Given the description of an element on the screen output the (x, y) to click on. 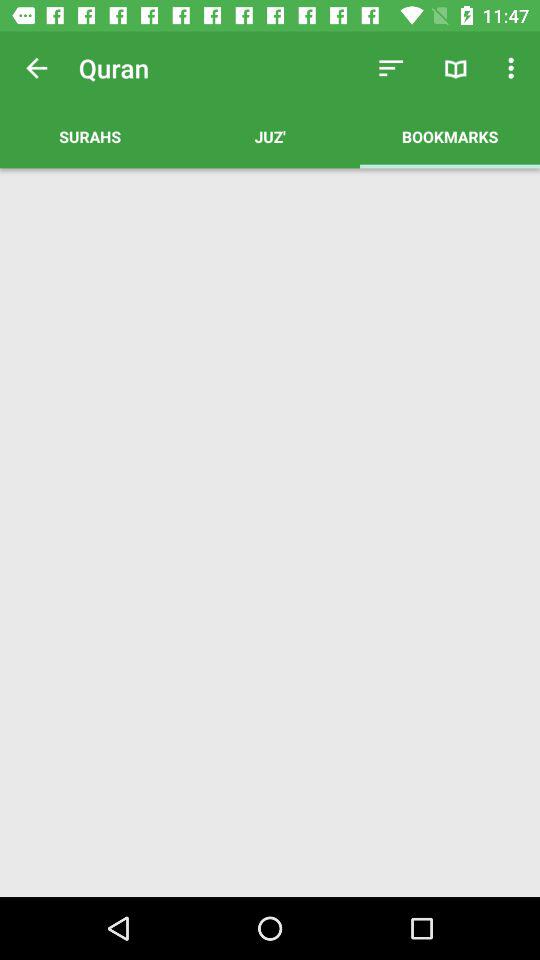
launch the item above bookmarks icon (513, 67)
